Given the description of an element on the screen output the (x, y) to click on. 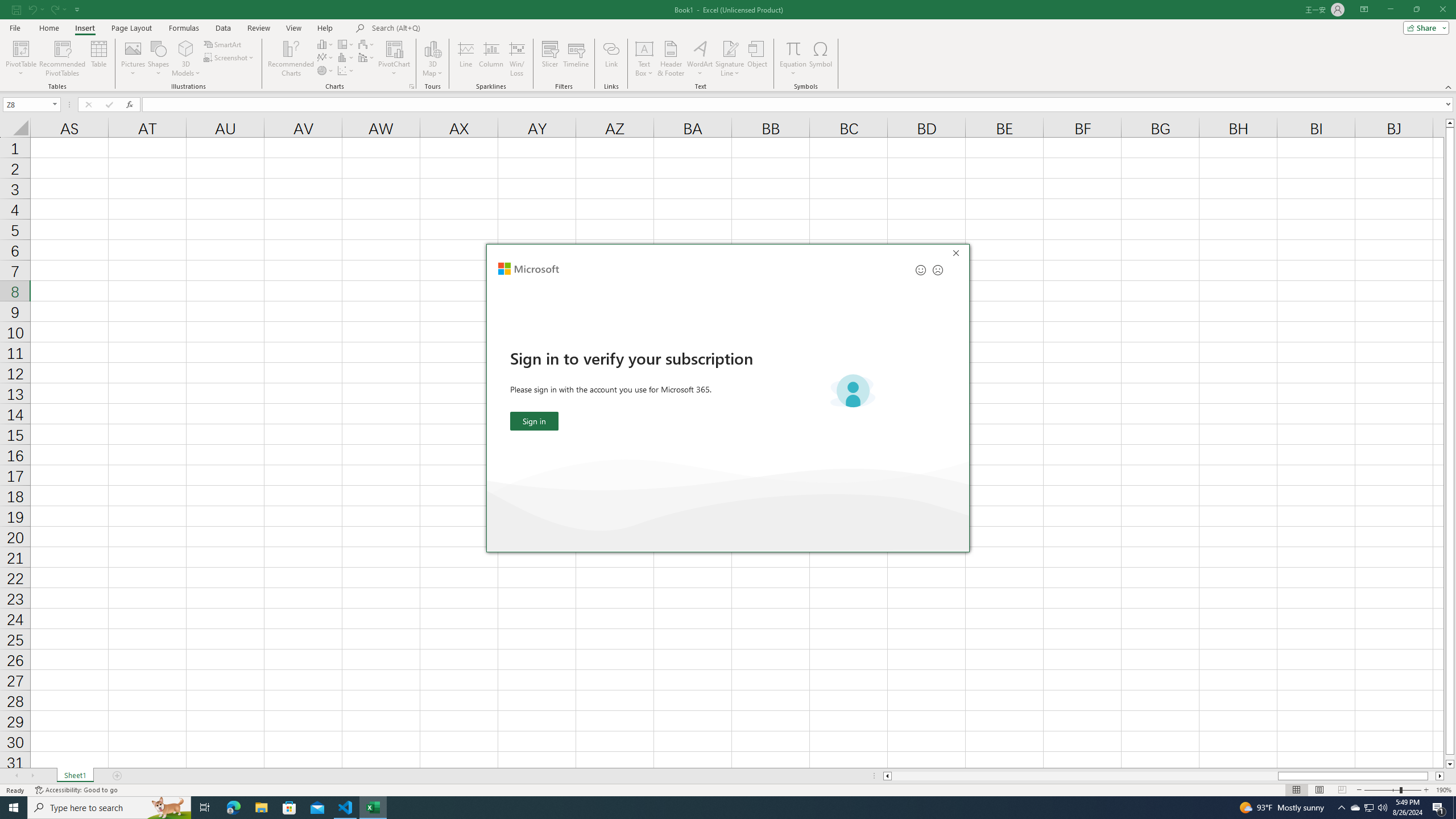
Insert Scatter (X, Y) or Bubble Chart (346, 69)
Pictures (133, 58)
Object... (757, 58)
Scroll Right (32, 775)
Home (48, 28)
Column (491, 58)
Shapes (158, 58)
SmartArt... (223, 44)
Line (465, 58)
Zoom (1368, 807)
3D Models (1392, 790)
Insert Waterfall, Funnel, Stock, Surface, or Radar Chart (186, 58)
Insert (366, 44)
